Given the description of an element on the screen output the (x, y) to click on. 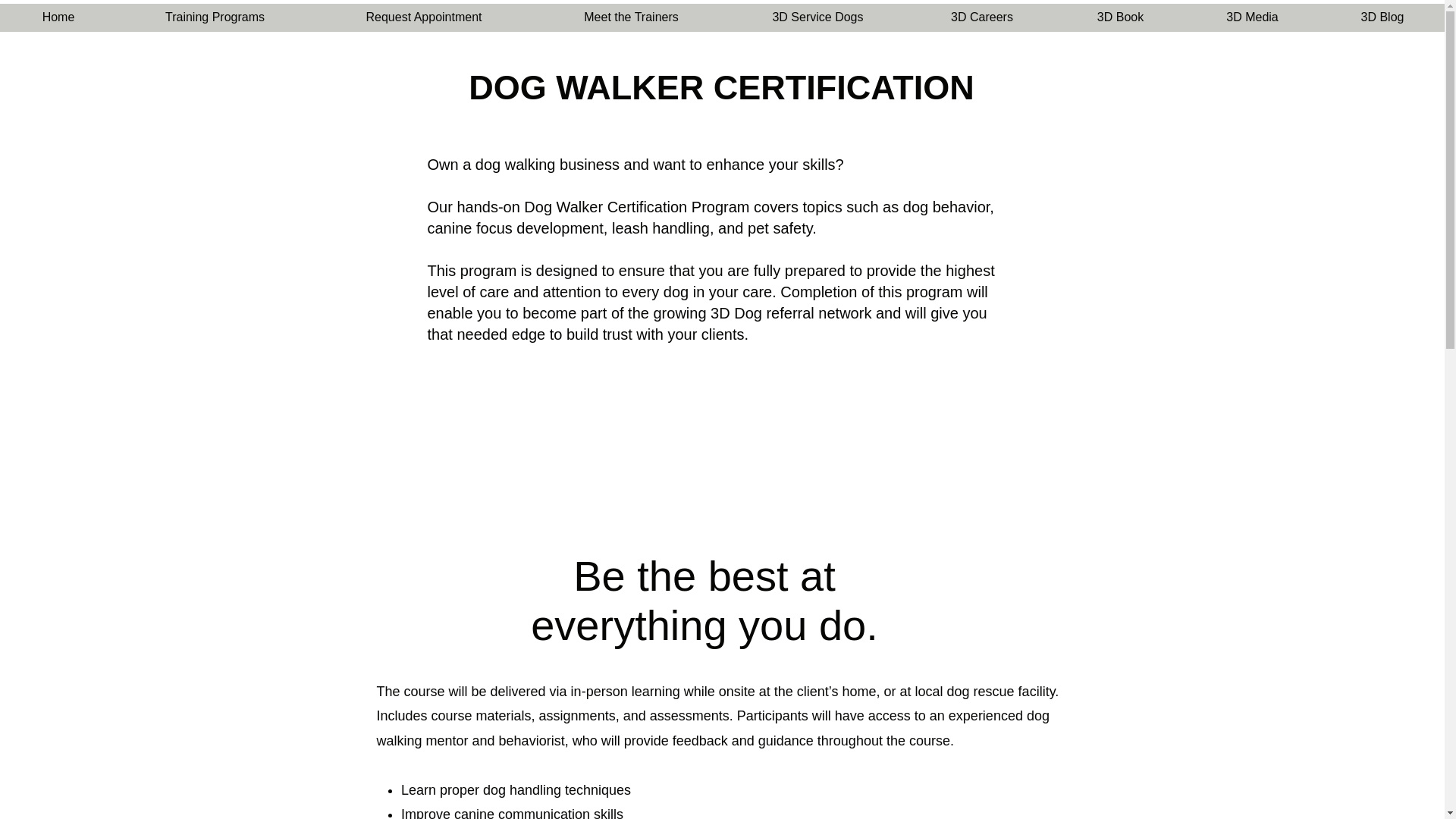
3D Media (1252, 22)
Request Appointment (423, 22)
Meet the Trainers (631, 22)
3D Careers (982, 22)
Training Programs (214, 22)
3D Book (1121, 22)
3D Service Dogs (817, 22)
Home (58, 22)
